Given the description of an element on the screen output the (x, y) to click on. 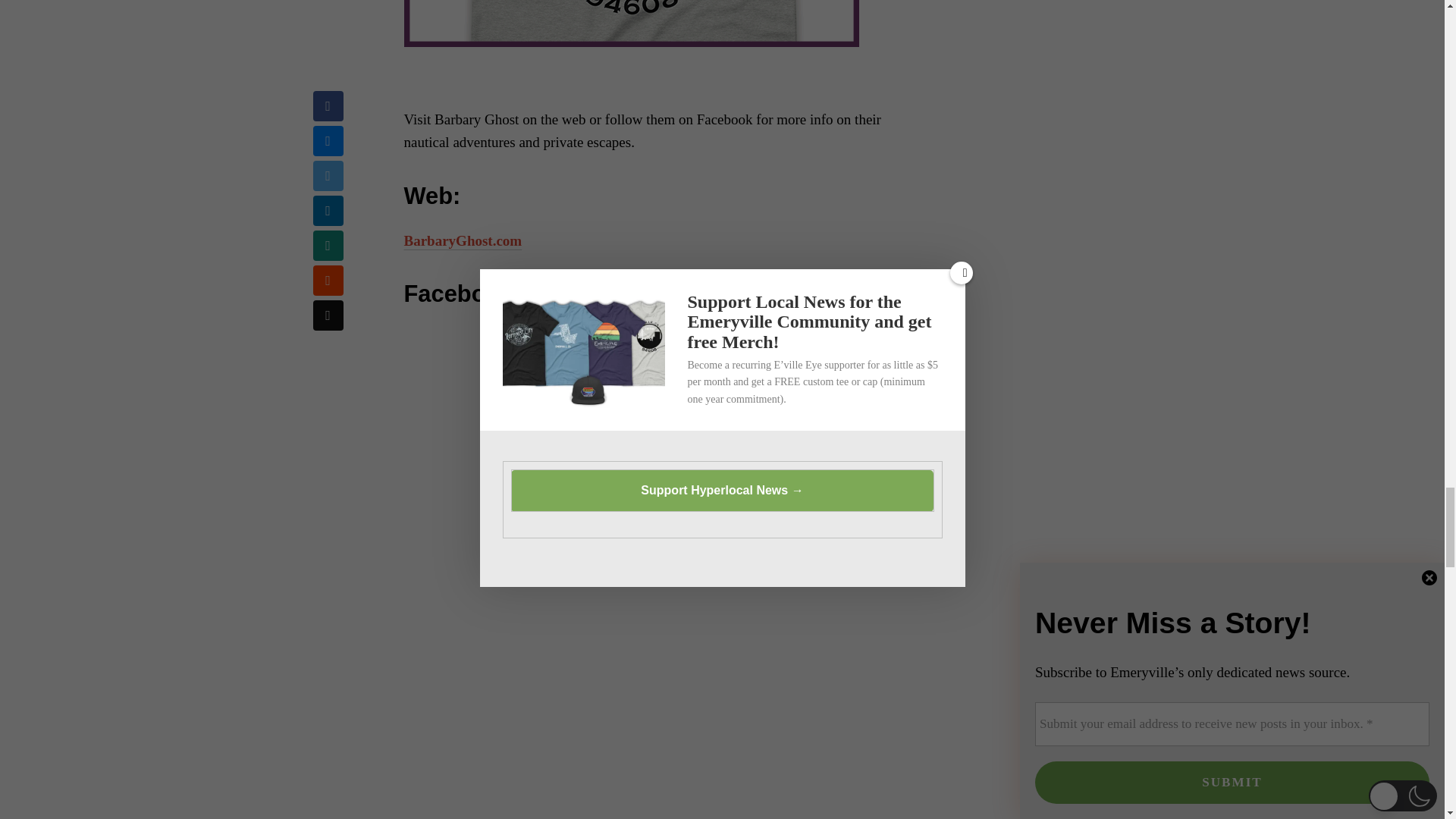
Eville Eye Shop Instory (631, 23)
